Given the description of an element on the screen output the (x, y) to click on. 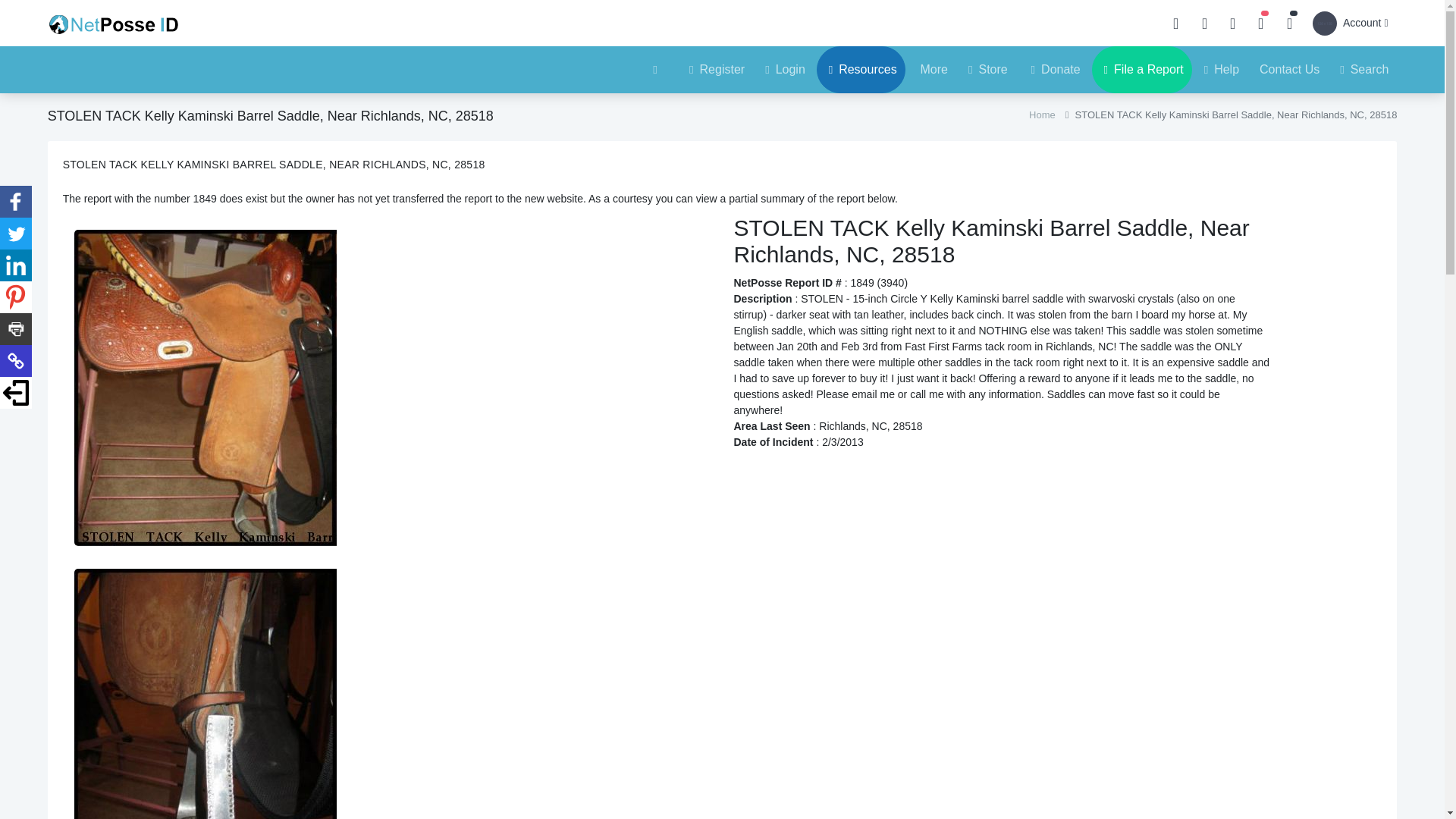
Copy Link (15, 360)
Register (714, 69)
Resources (860, 69)
Pinterest (15, 297)
More (932, 69)
Login (782, 69)
Close Share Bar (15, 392)
Linkedin (15, 265)
Account (1350, 22)
